Given the description of an element on the screen output the (x, y) to click on. 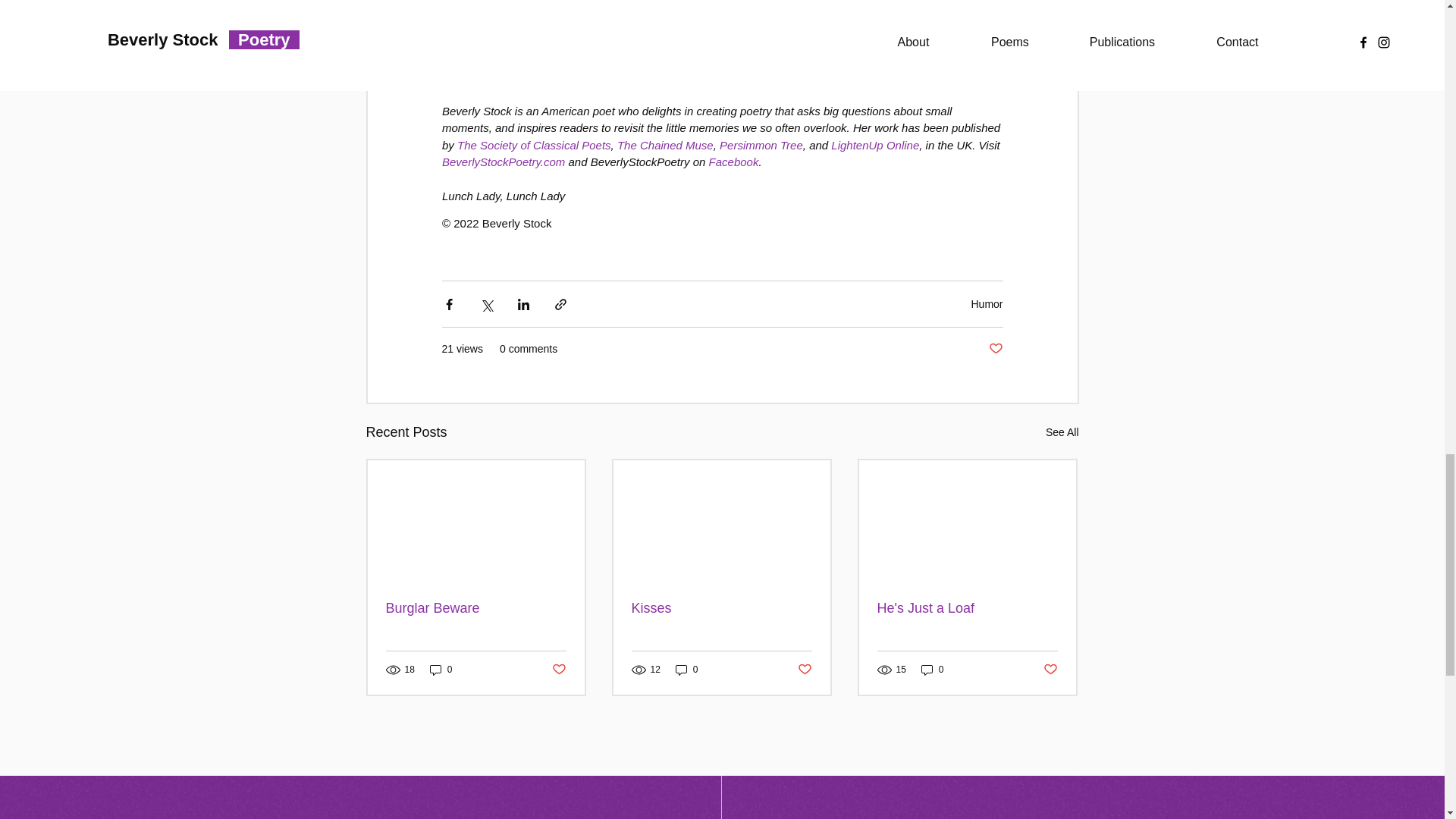
The Chained Muse (664, 144)
Post not marked as liked (558, 669)
Humor (987, 304)
Kisses (720, 608)
Post not marked as liked (1050, 669)
Burglar Beware (475, 608)
0 (687, 669)
The Society of Classical Poets (534, 144)
LightenUp Online (874, 144)
He's Just a Loaf (966, 608)
